Given the description of an element on the screen output the (x, y) to click on. 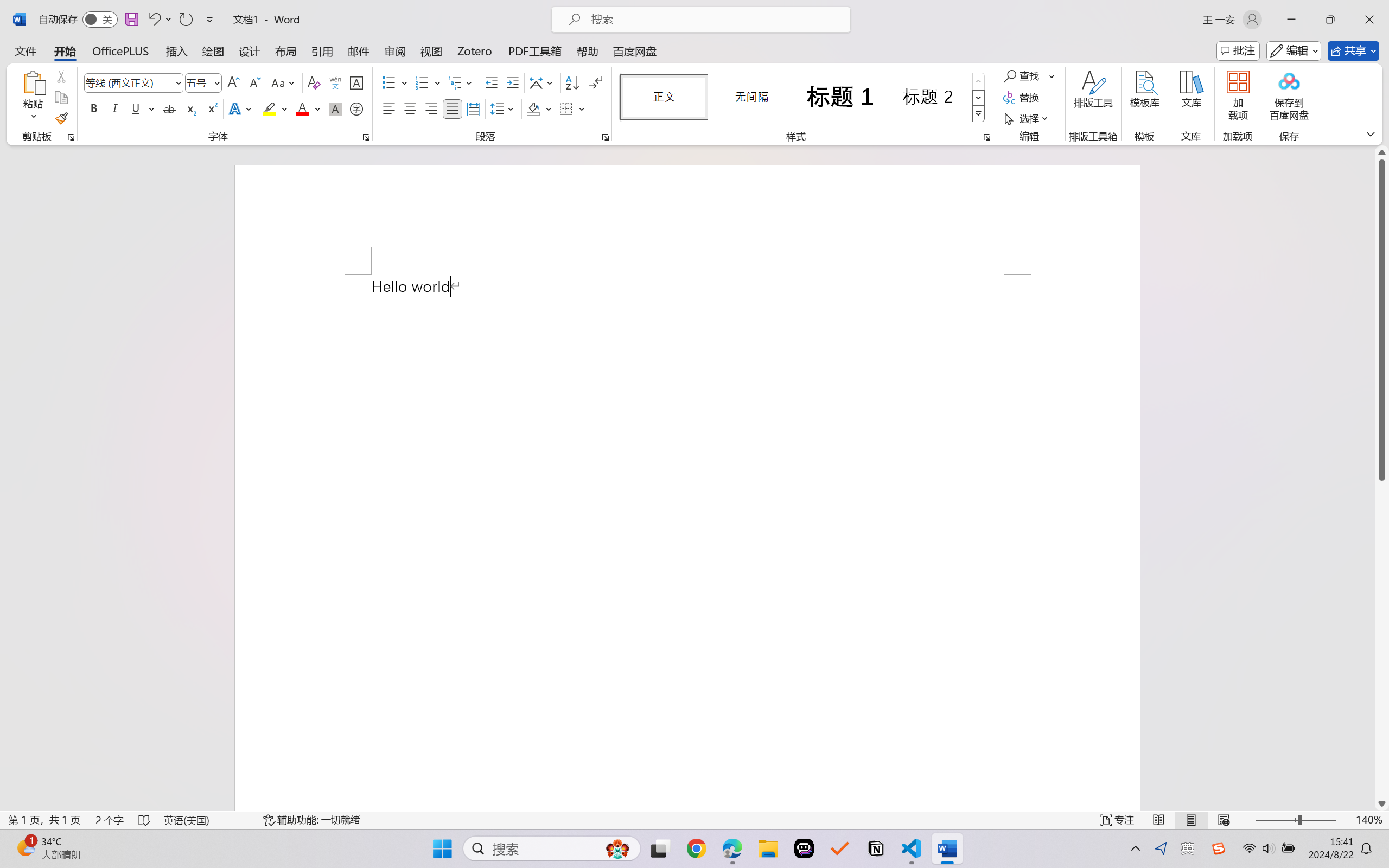
Zotero (475, 51)
